Given the description of an element on the screen output the (x, y) to click on. 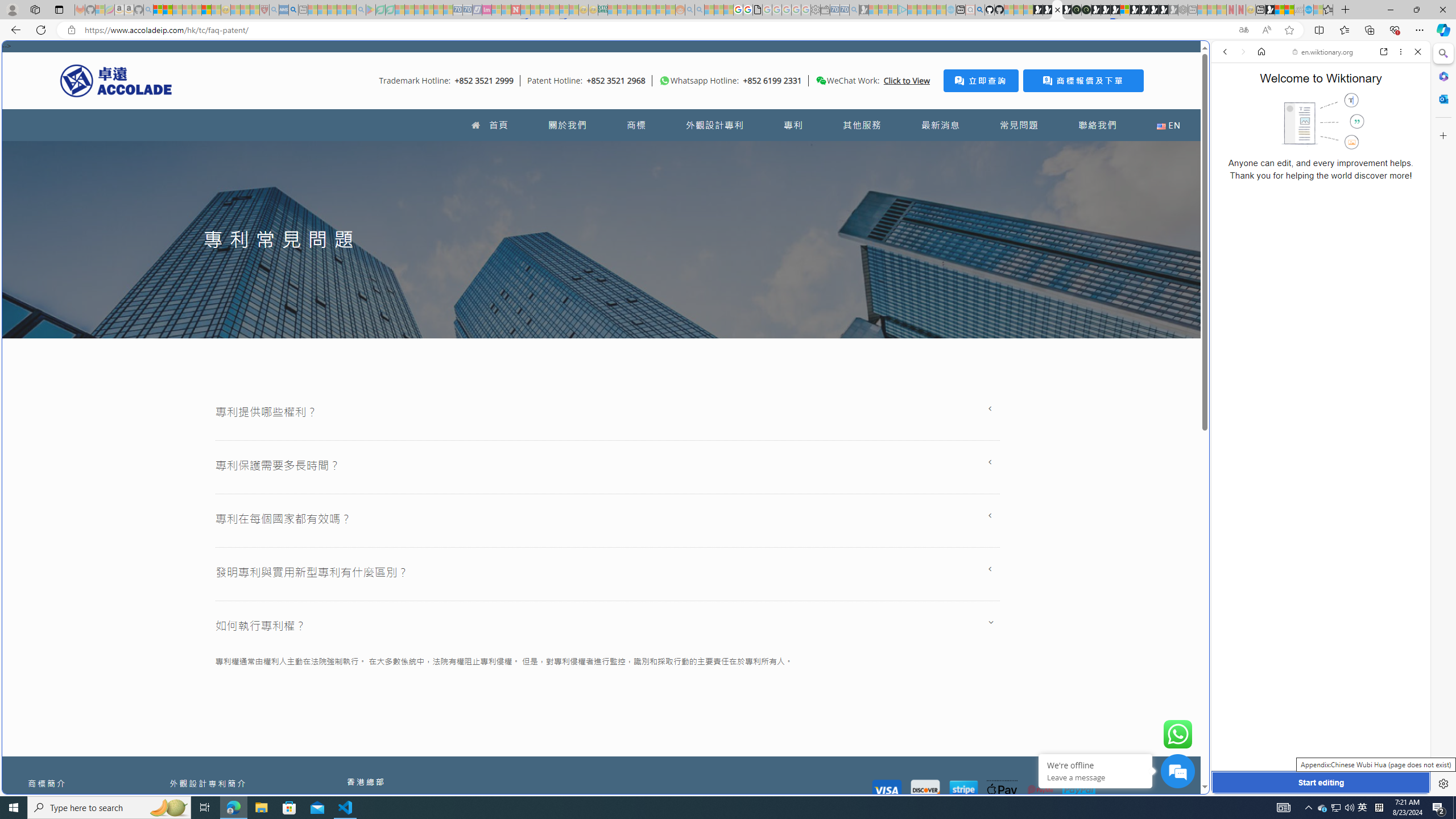
EN (1168, 124)
Accolade IP HK Logo (116, 80)
Wiktionary (1315, 380)
